Given the description of an element on the screen output the (x, y) to click on. 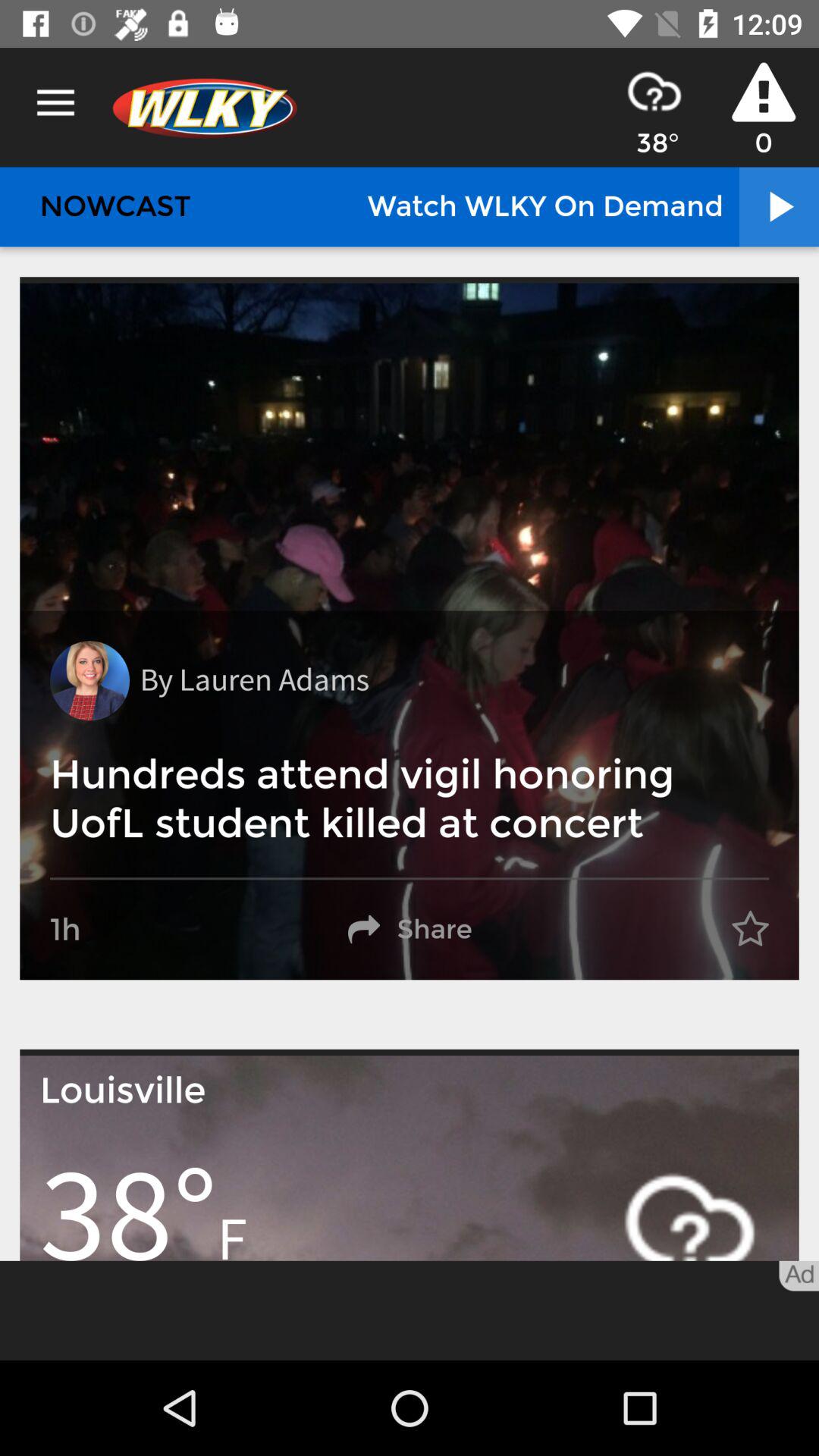
open the icon next to the by lauren adams item (89, 680)
